Given the description of an element on the screen output the (x, y) to click on. 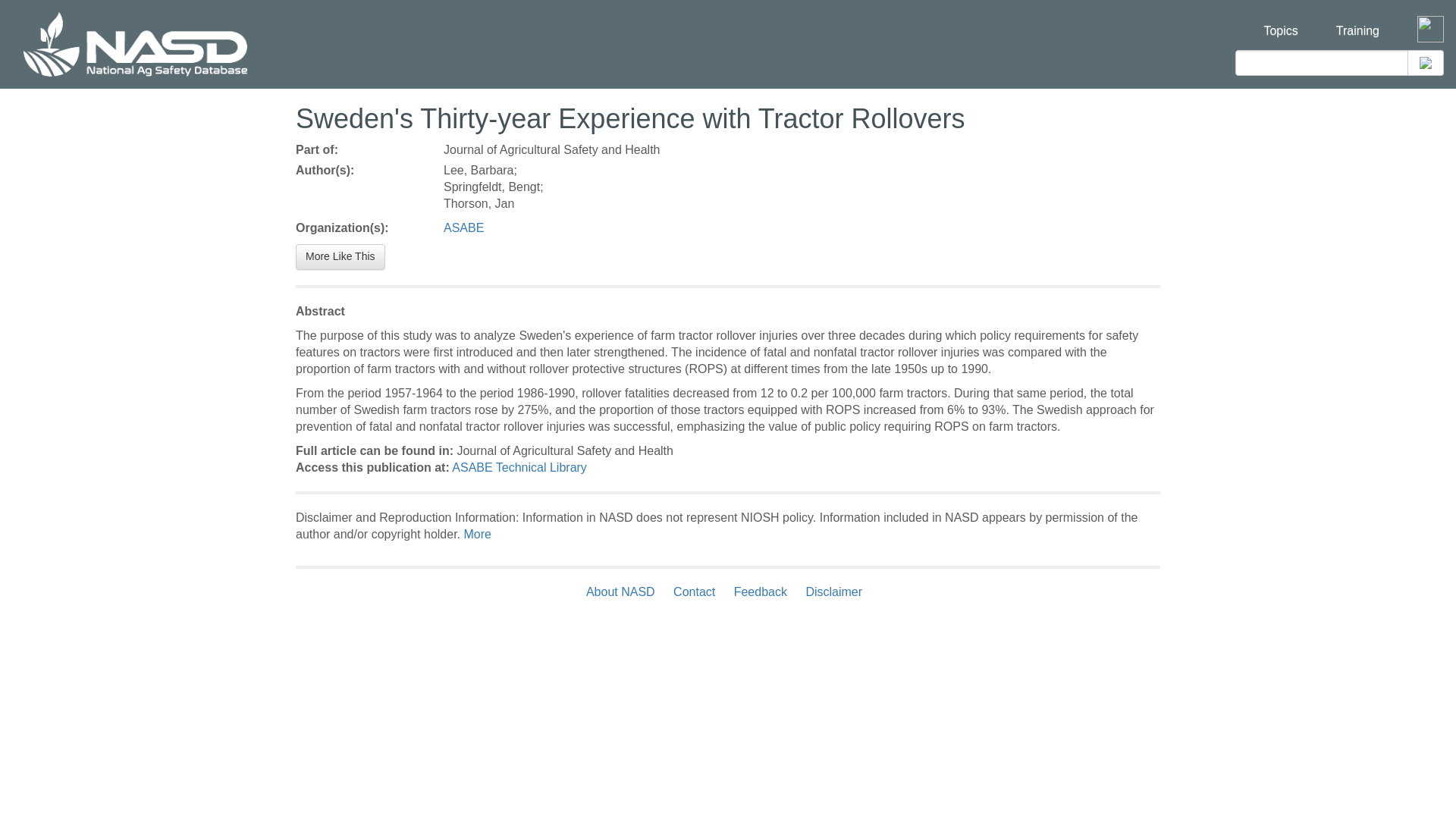
Contact (693, 592)
Training (1357, 21)
Topics (1280, 21)
ASABE (463, 227)
More Like This (340, 257)
ASABE Technical Library (518, 467)
More (476, 533)
About NASD (624, 592)
Disclaimer (833, 592)
Feedback (760, 592)
